Given the description of an element on the screen output the (x, y) to click on. 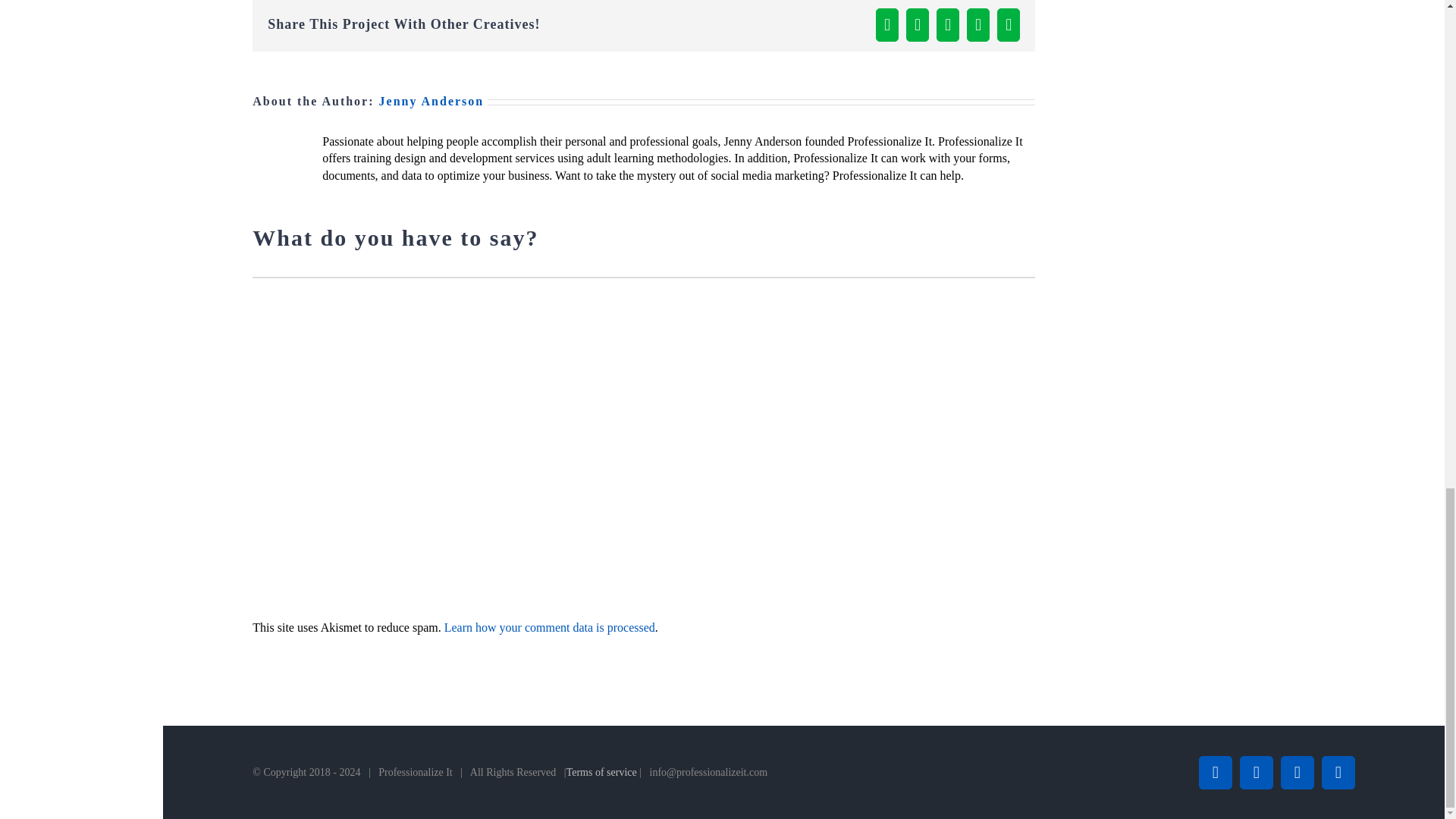
Learn how your comment data is processed (549, 626)
Jenny Anderson (431, 101)
Facebook (1214, 772)
Instagram (1297, 772)
Twitter (1256, 772)
YouTube (1338, 772)
Posts by Jenny Anderson (431, 101)
Terms of service (601, 772)
Facebook (1214, 772)
